Given the description of an element on the screen output the (x, y) to click on. 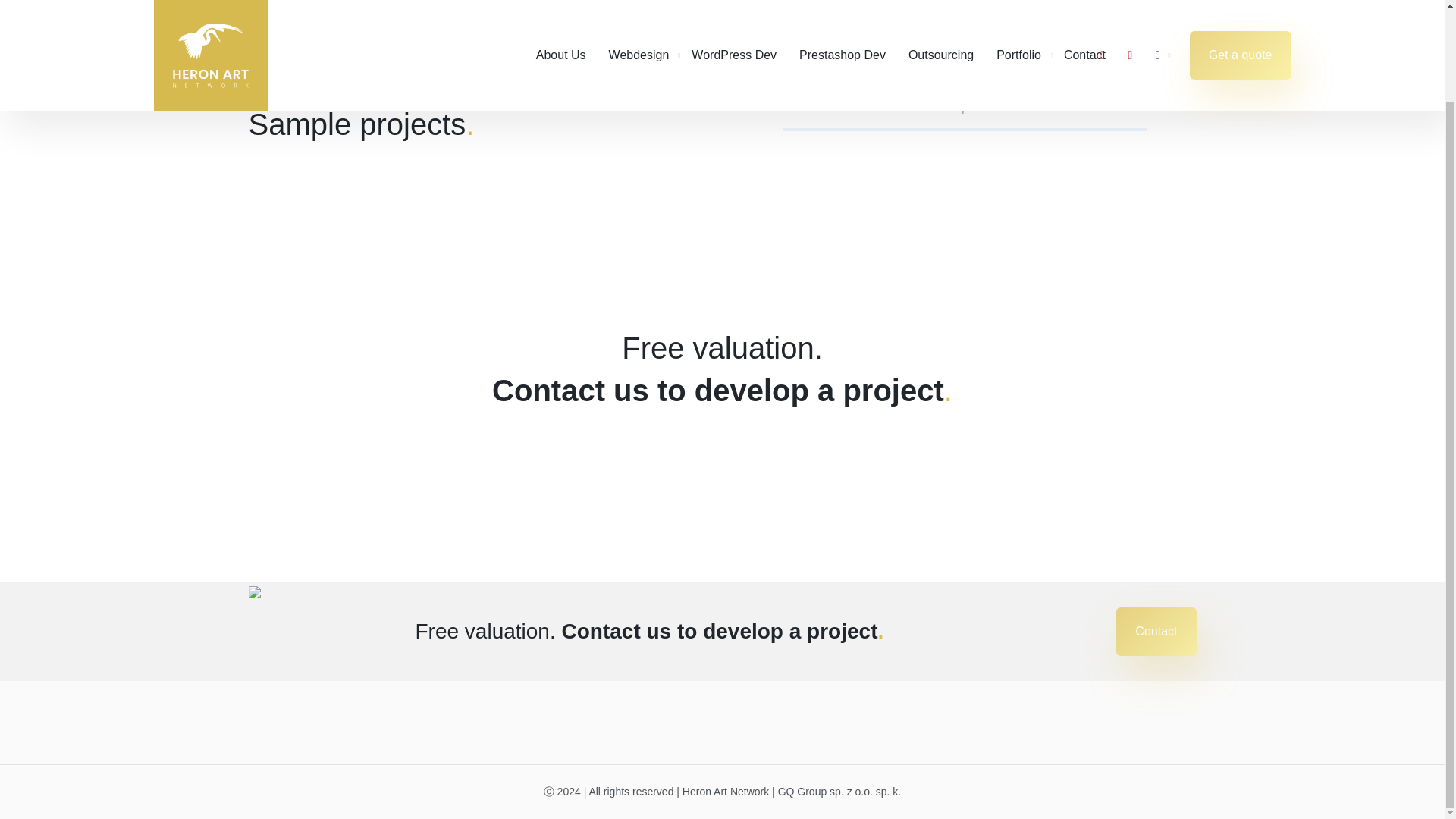
Websites (831, 108)
Online Shops (938, 108)
Dedicated modules (1072, 108)
Contact (1155, 631)
